Given the description of an element on the screen output the (x, y) to click on. 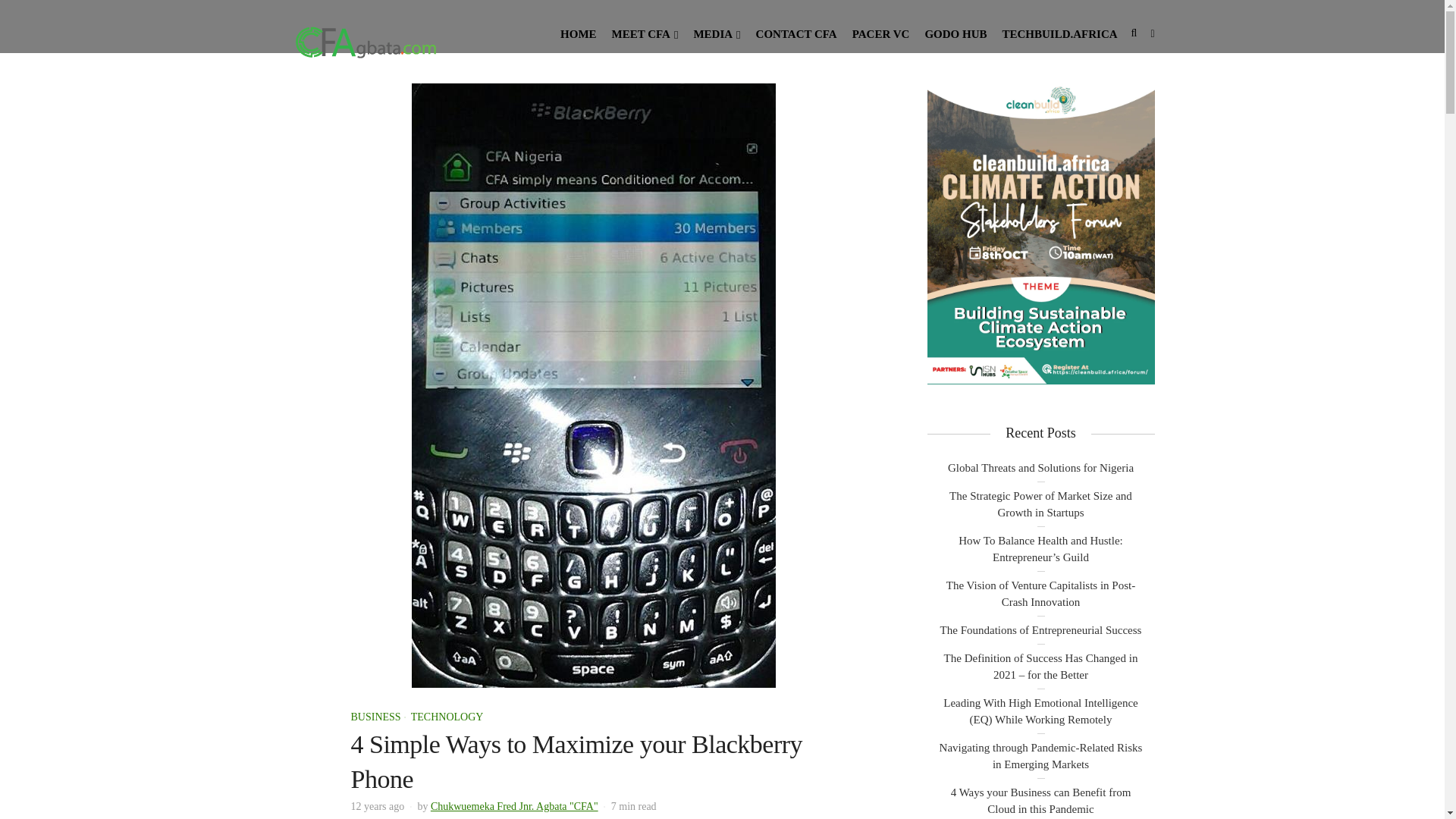
GODO HUB (955, 33)
CFA's Personal Blog (365, 41)
CONTACT CFA (796, 33)
TECHBUILD.AFRICA (1058, 33)
MEET CFA (644, 33)
